Given the description of an element on the screen output the (x, y) to click on. 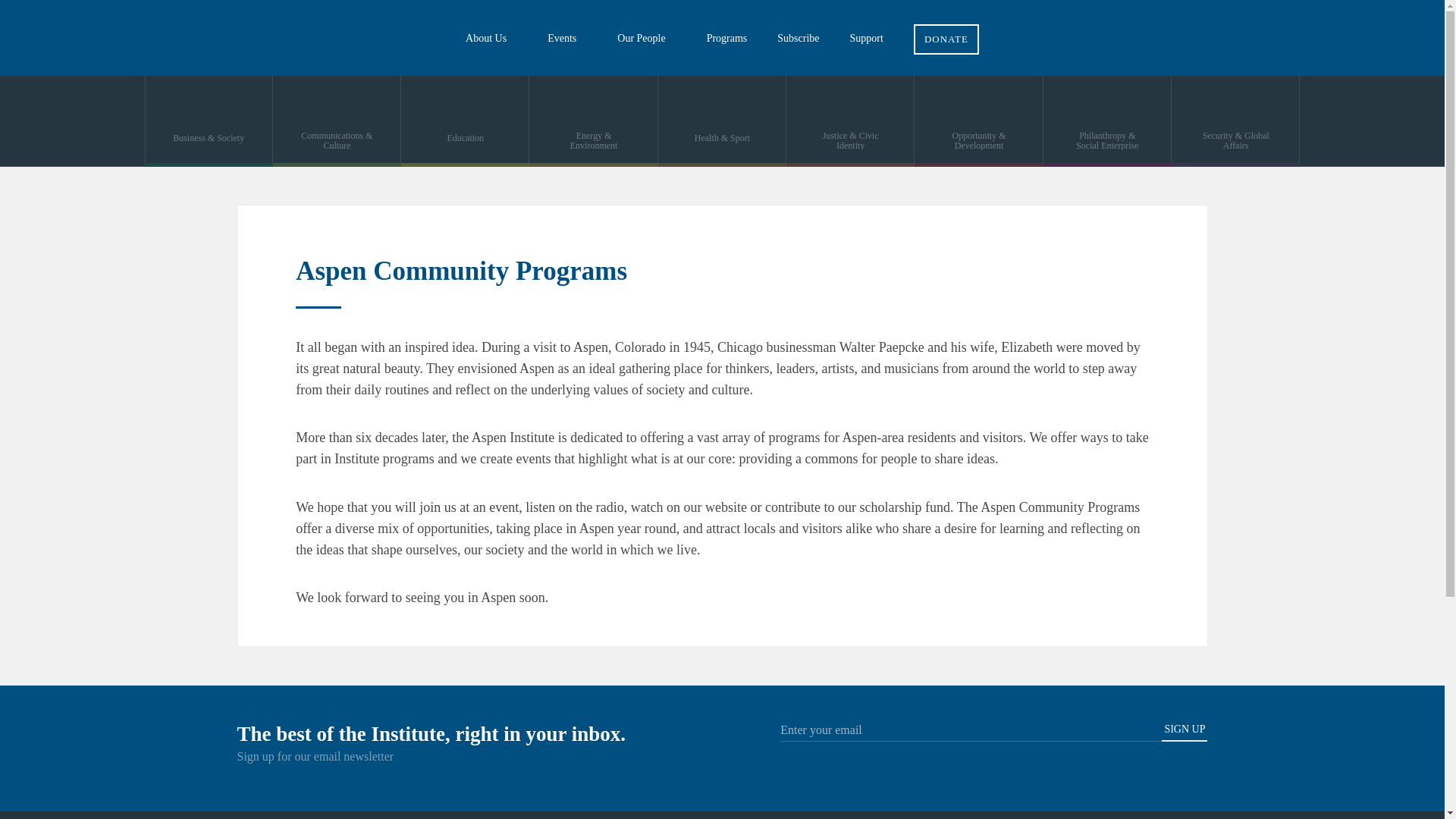
Programs (726, 38)
Events (567, 38)
Education (465, 121)
Subscribe (797, 38)
SIGN UP (1184, 732)
The Aspen Institute (113, 38)
Our People (646, 38)
DONATE (946, 27)
About Us (490, 38)
